Given the description of an element on the screen output the (x, y) to click on. 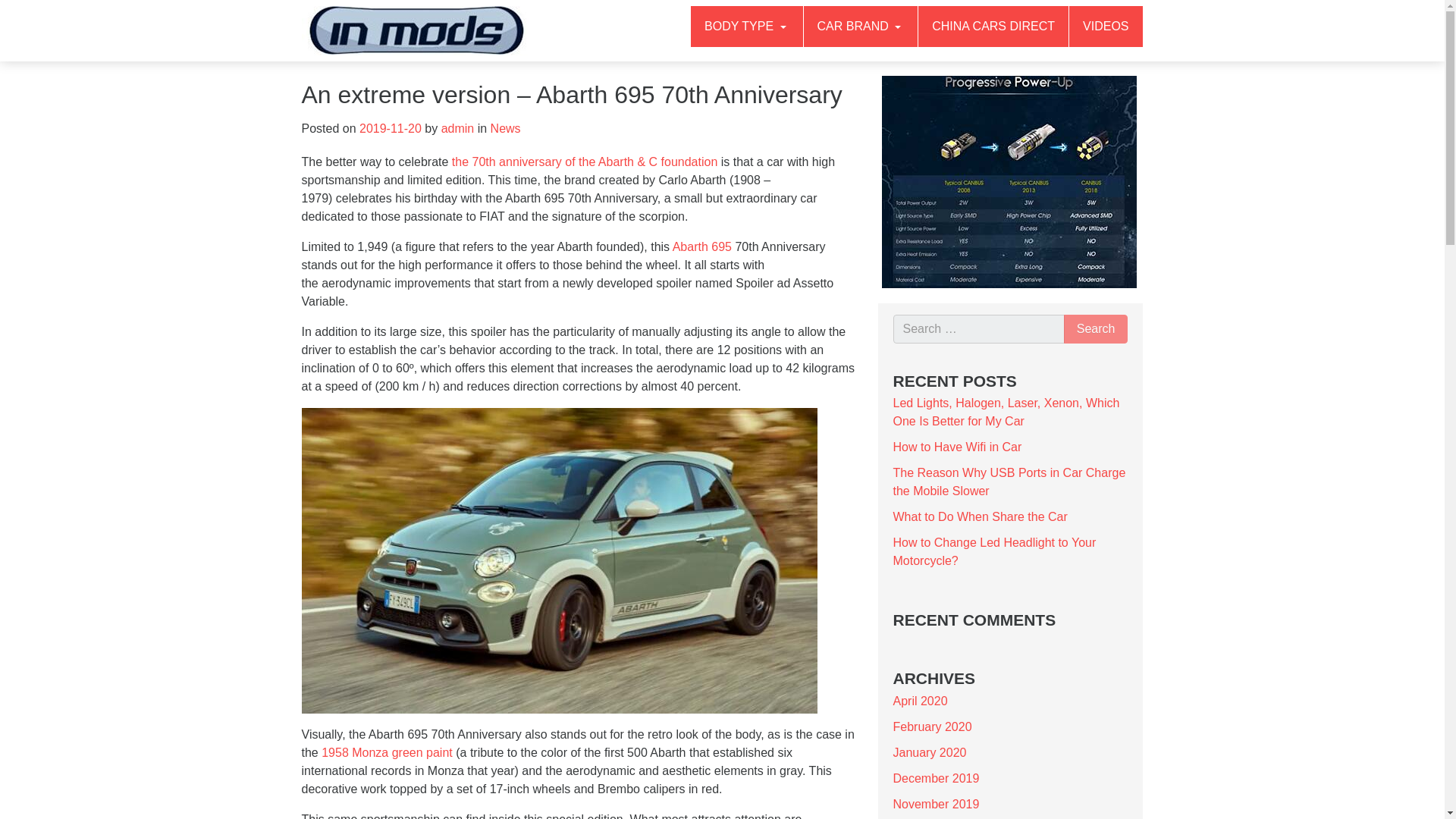
VIDEOS (1105, 26)
CAR BRAND (860, 26)
admin (457, 128)
1958 Monza green paint (386, 752)
BODY TYPE (746, 26)
Car Brand (860, 26)
News (505, 128)
Abarth 695 (702, 246)
Search (1096, 328)
Body Type (746, 26)
